Given the description of an element on the screen output the (x, y) to click on. 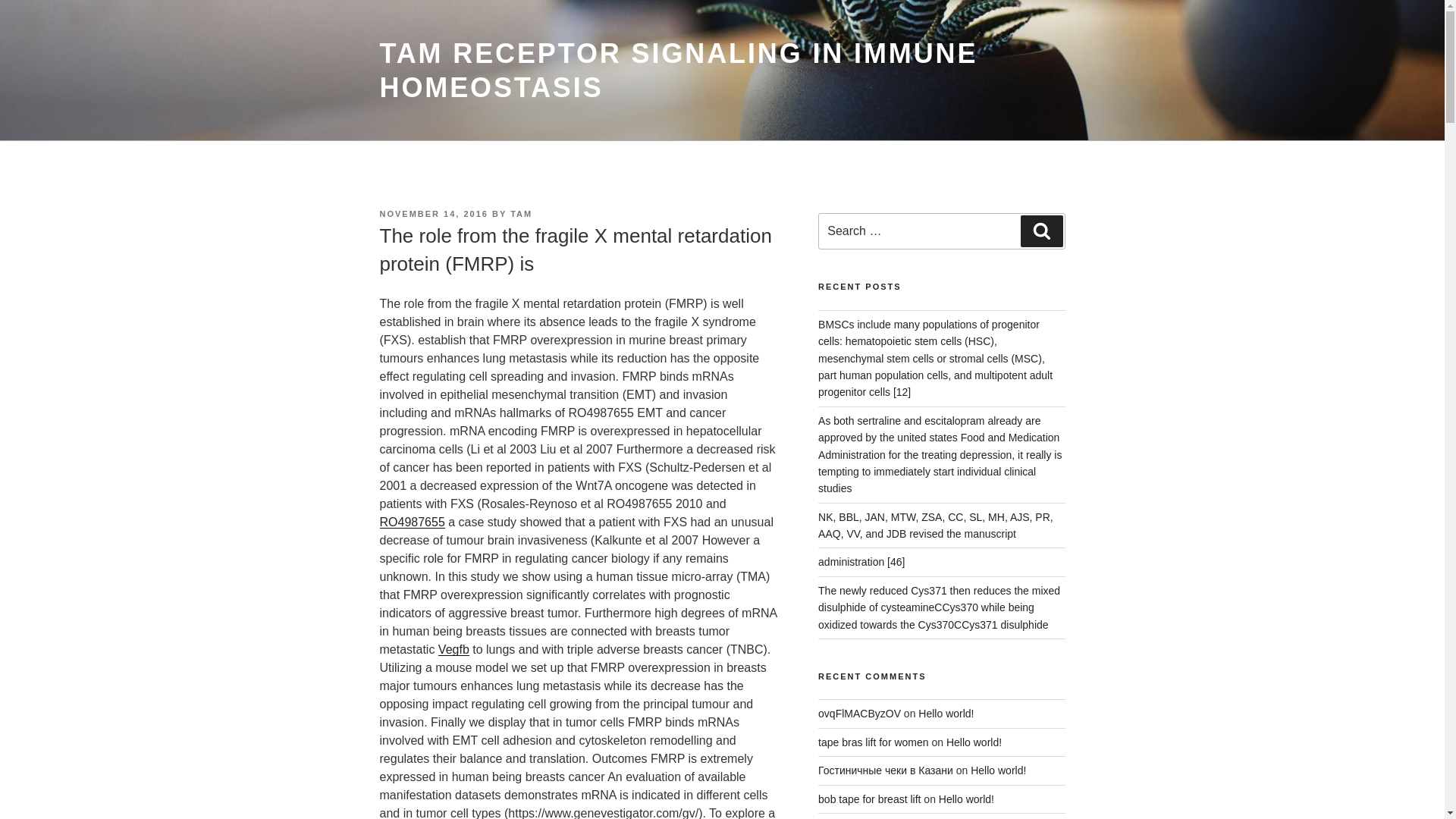
Hello world! (998, 770)
Hello world! (946, 713)
Vegfb (453, 649)
Search (1041, 231)
tape bras lift for women (873, 742)
ovqFlMACByzOV (859, 713)
TAM RECEPTOR SIGNALING IN IMMUNE HOMEOSTASIS (677, 70)
NOVEMBER 14, 2016 (432, 213)
Hello world! (973, 742)
bob tape for breast lift (869, 799)
Hello world! (966, 799)
RO4987655 (411, 521)
